Given the description of an element on the screen output the (x, y) to click on. 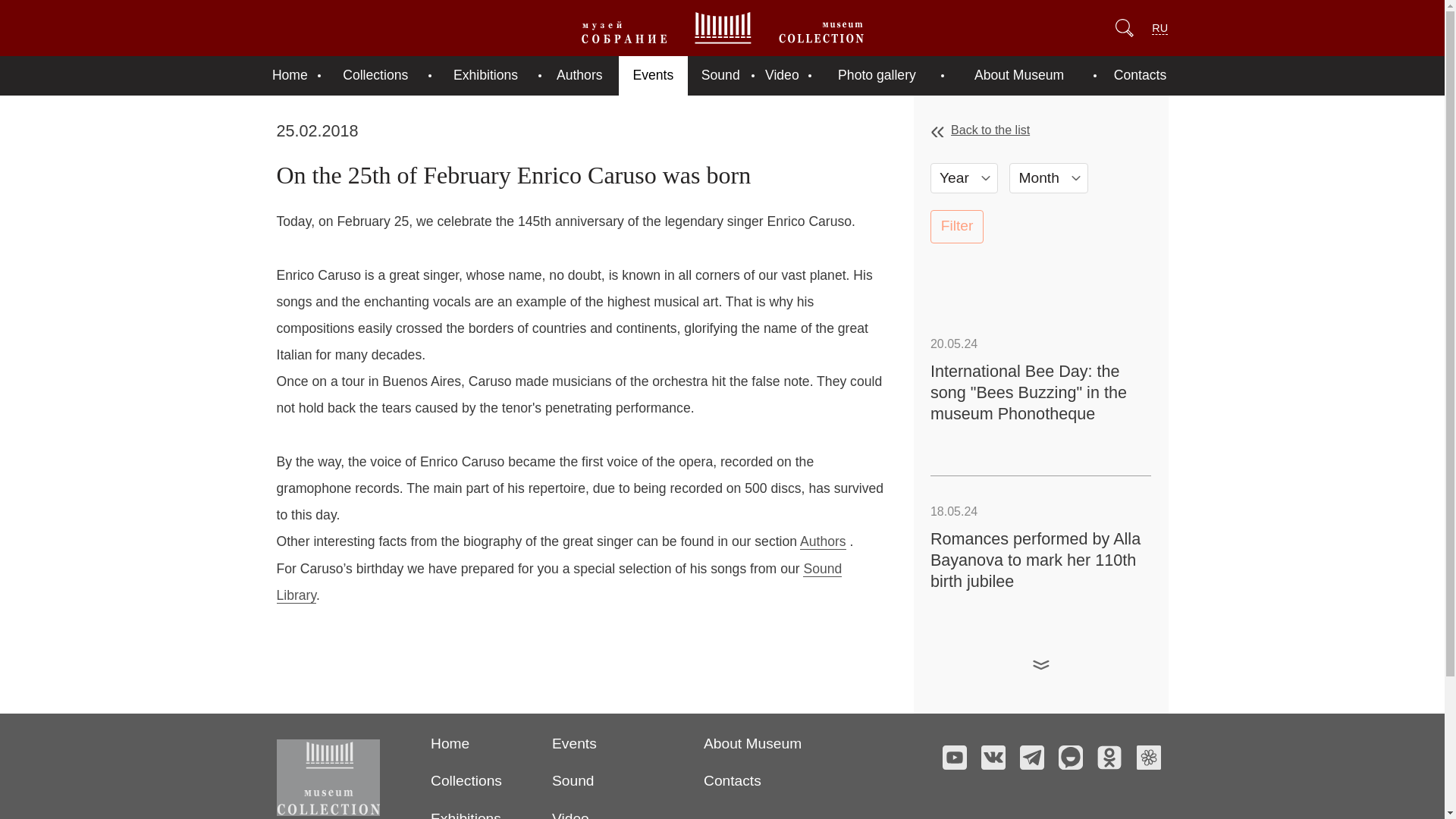
Collections (375, 76)
Events (573, 743)
Authors (822, 541)
Home (449, 743)
Page VK (993, 757)
Home (289, 76)
Video (781, 76)
Events (652, 76)
Page Telegram (1031, 757)
Page ICQ (1148, 757)
Page TamTam (1070, 757)
Back to the list (1040, 130)
Filter (957, 226)
Photo gallery (876, 76)
